Given the description of an element on the screen output the (x, y) to click on. 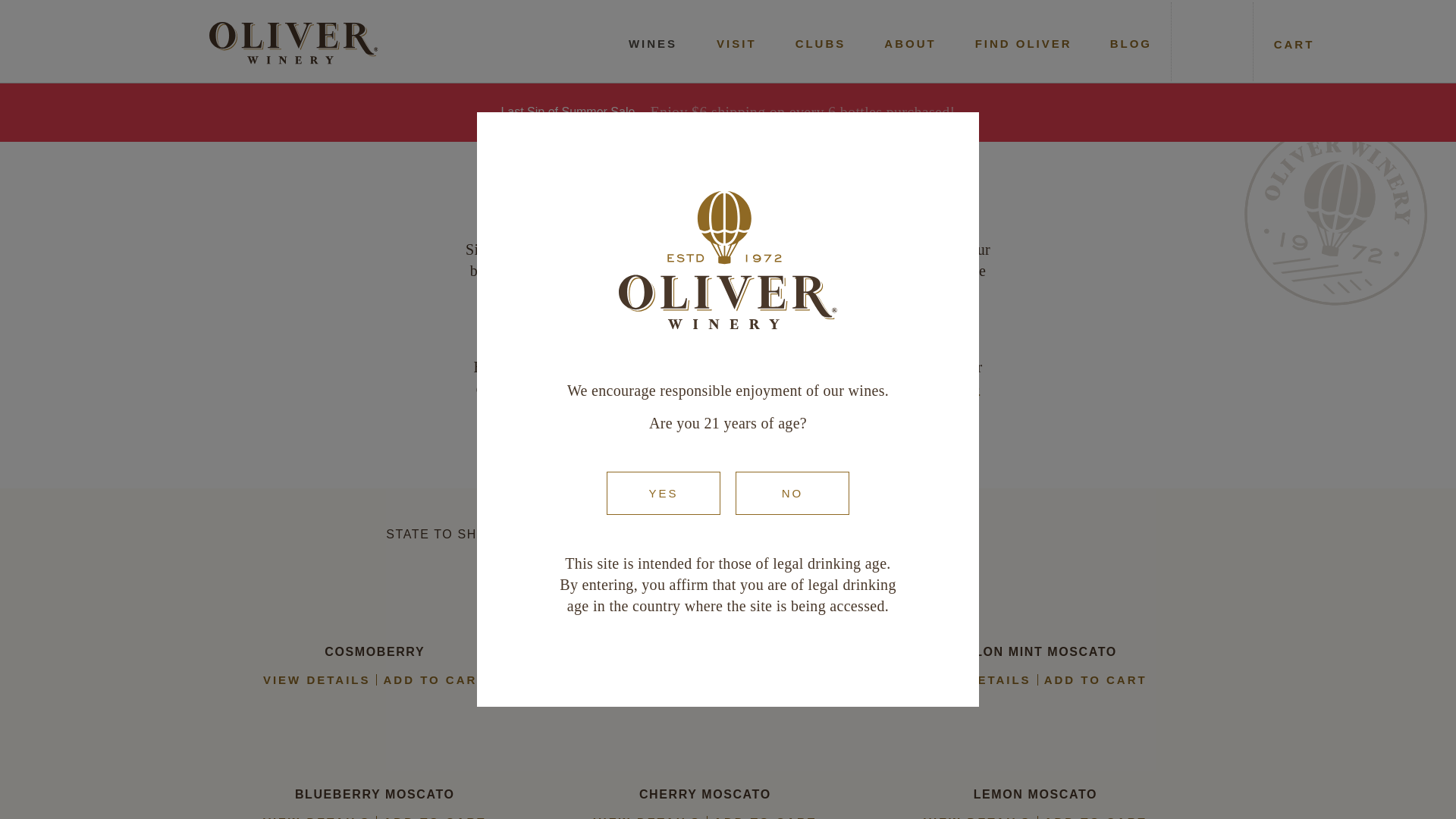
WINES (652, 43)
NO (791, 493)
ABOUT (909, 43)
VISIT (736, 43)
YES (663, 493)
CLUBS (820, 43)
